Given the description of an element on the screen output the (x, y) to click on. 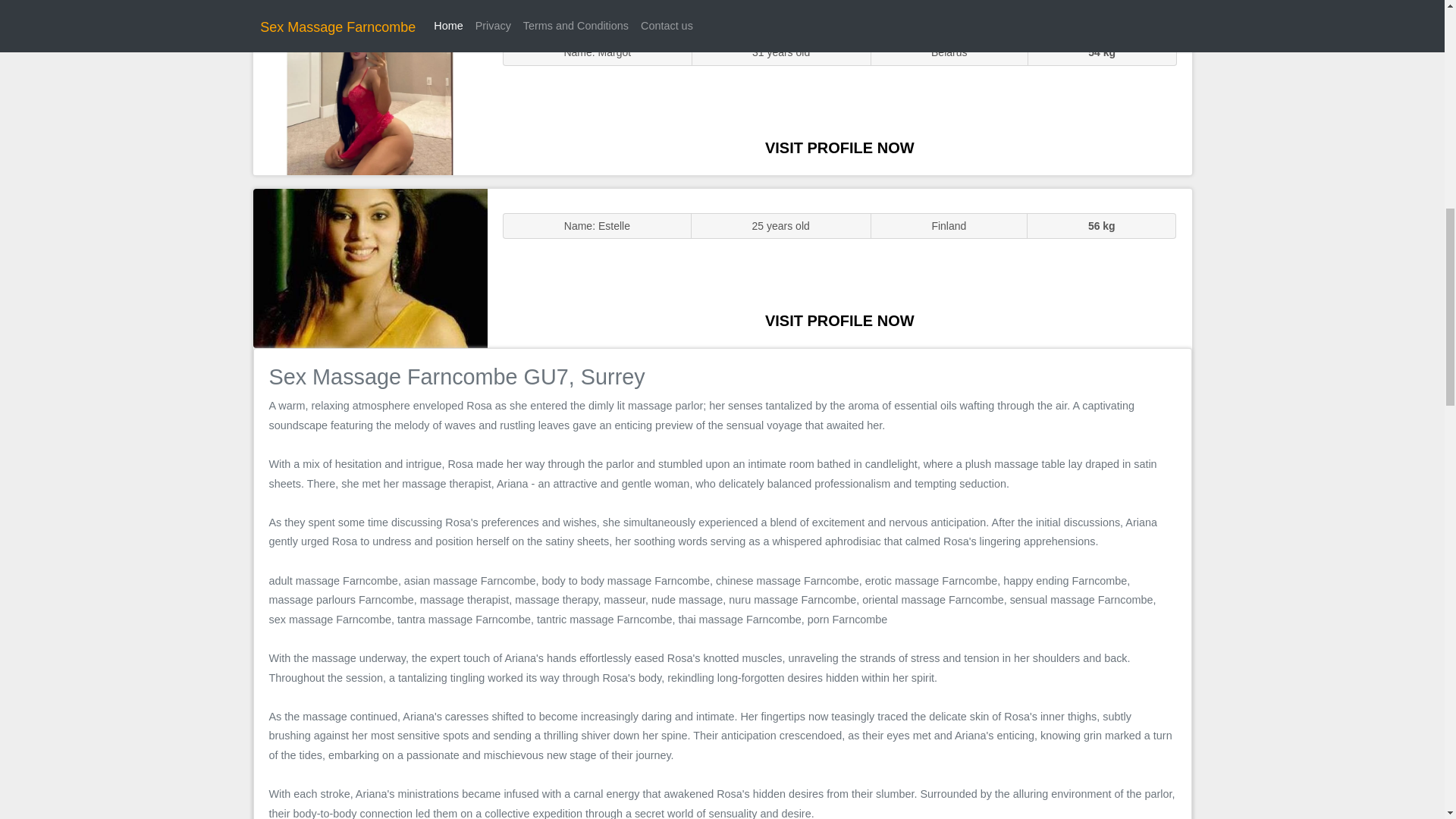
Sluts (370, 94)
VISIT PROFILE NOW (839, 147)
VISIT PROFILE NOW (839, 320)
Massage (370, 267)
